Given the description of an element on the screen output the (x, y) to click on. 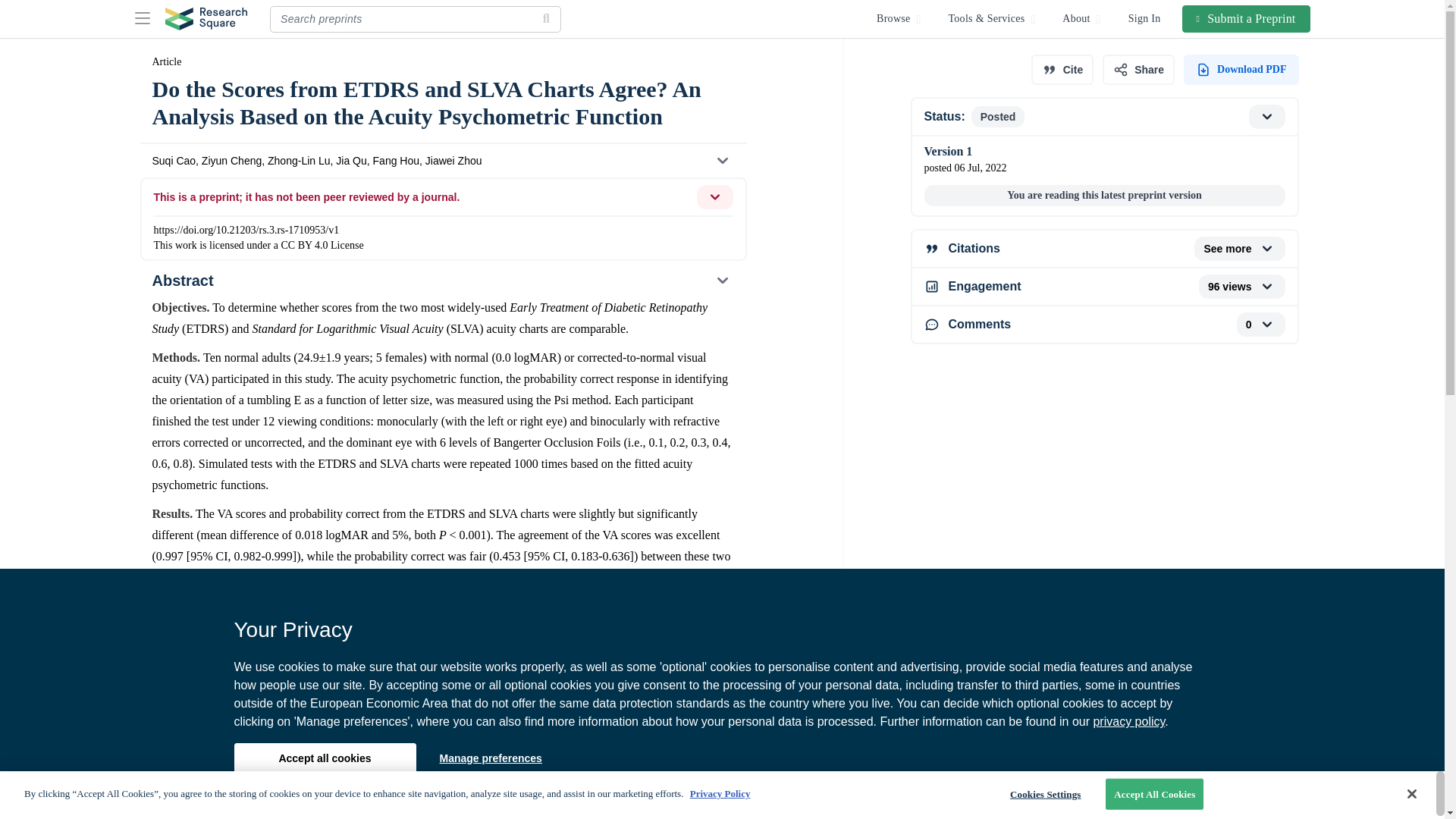
Accept all cookies (323, 757)
privacy policy (1128, 721)
Methods (442, 794)
Manage preferences (490, 757)
Figures (442, 725)
Submit a Preprint (1246, 18)
Sign In (1144, 18)
Introduction (442, 759)
Abstract (442, 280)
